Given the description of an element on the screen output the (x, y) to click on. 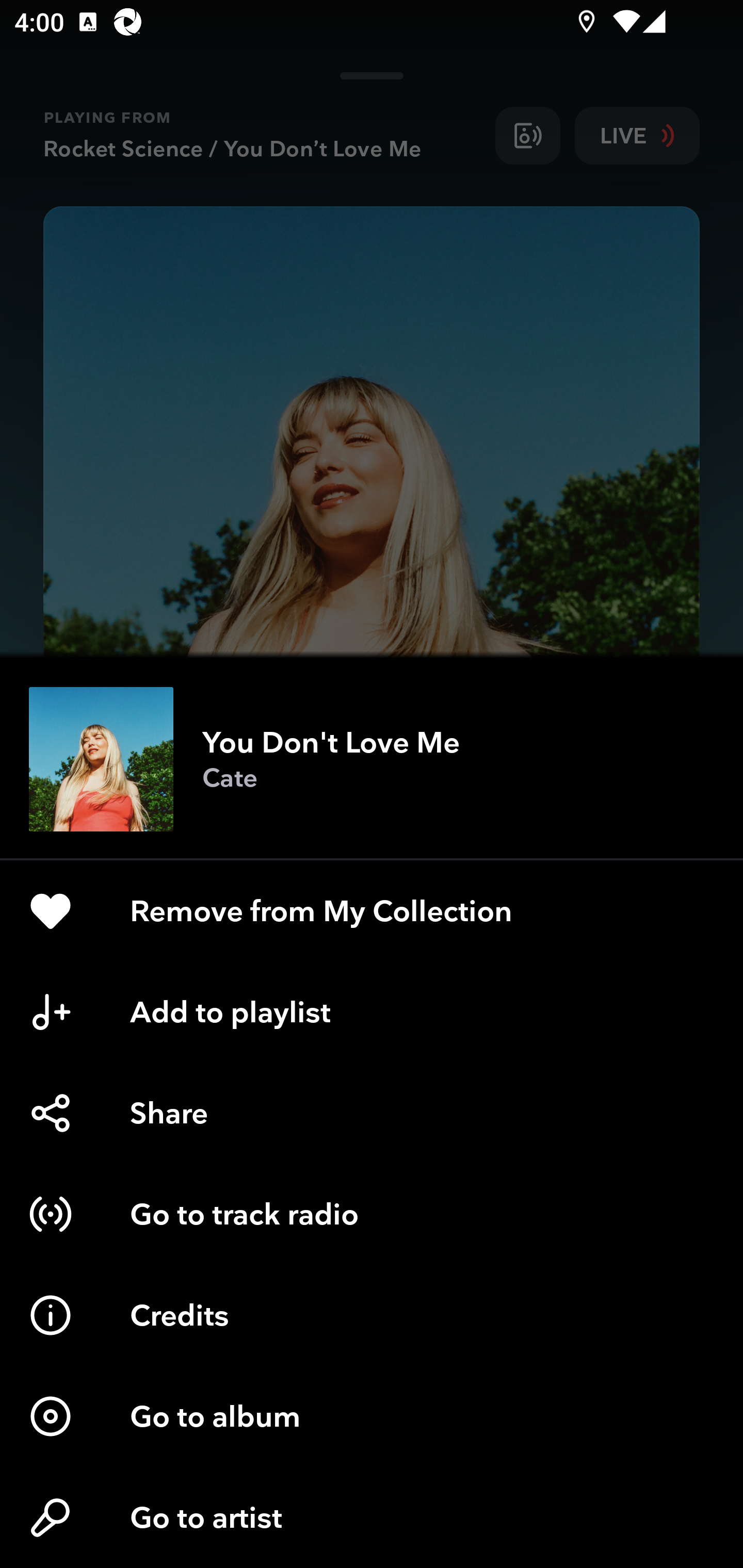
Remove from My Collection (371, 910)
Add to playlist (371, 1012)
Share (371, 1113)
Go to track radio (371, 1214)
Credits (371, 1315)
Go to album (371, 1416)
Go to artist (371, 1517)
